Given the description of an element on the screen output the (x, y) to click on. 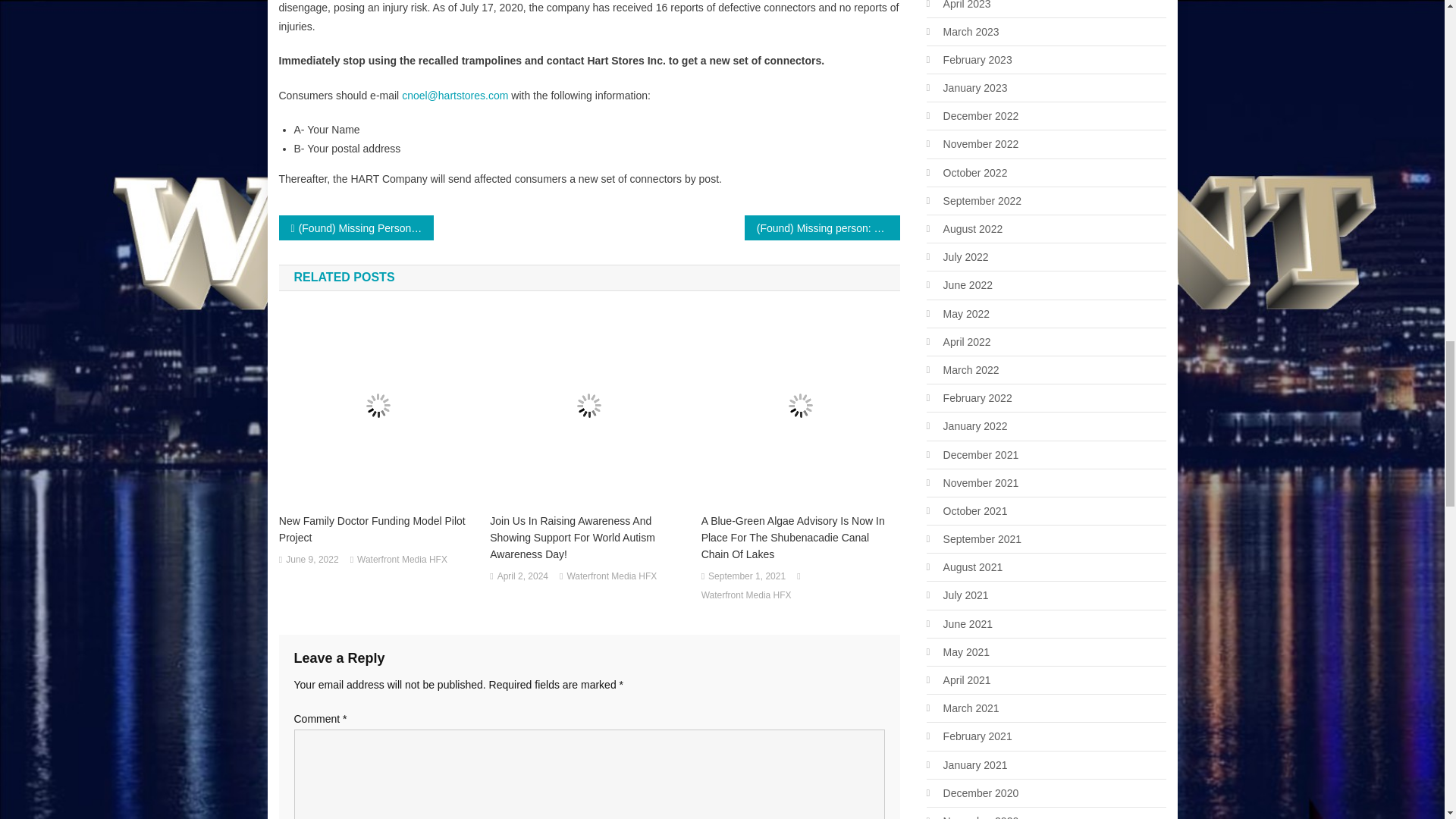
September 1, 2021 (746, 576)
June 9, 2022 (311, 560)
April 2, 2024 (522, 576)
New Family Doctor Funding Model Pilot Project (378, 529)
Waterfront Media HFX (746, 596)
Waterfront Media HFX (611, 576)
Waterfront Media HFX (401, 560)
